Given the description of an element on the screen output the (x, y) to click on. 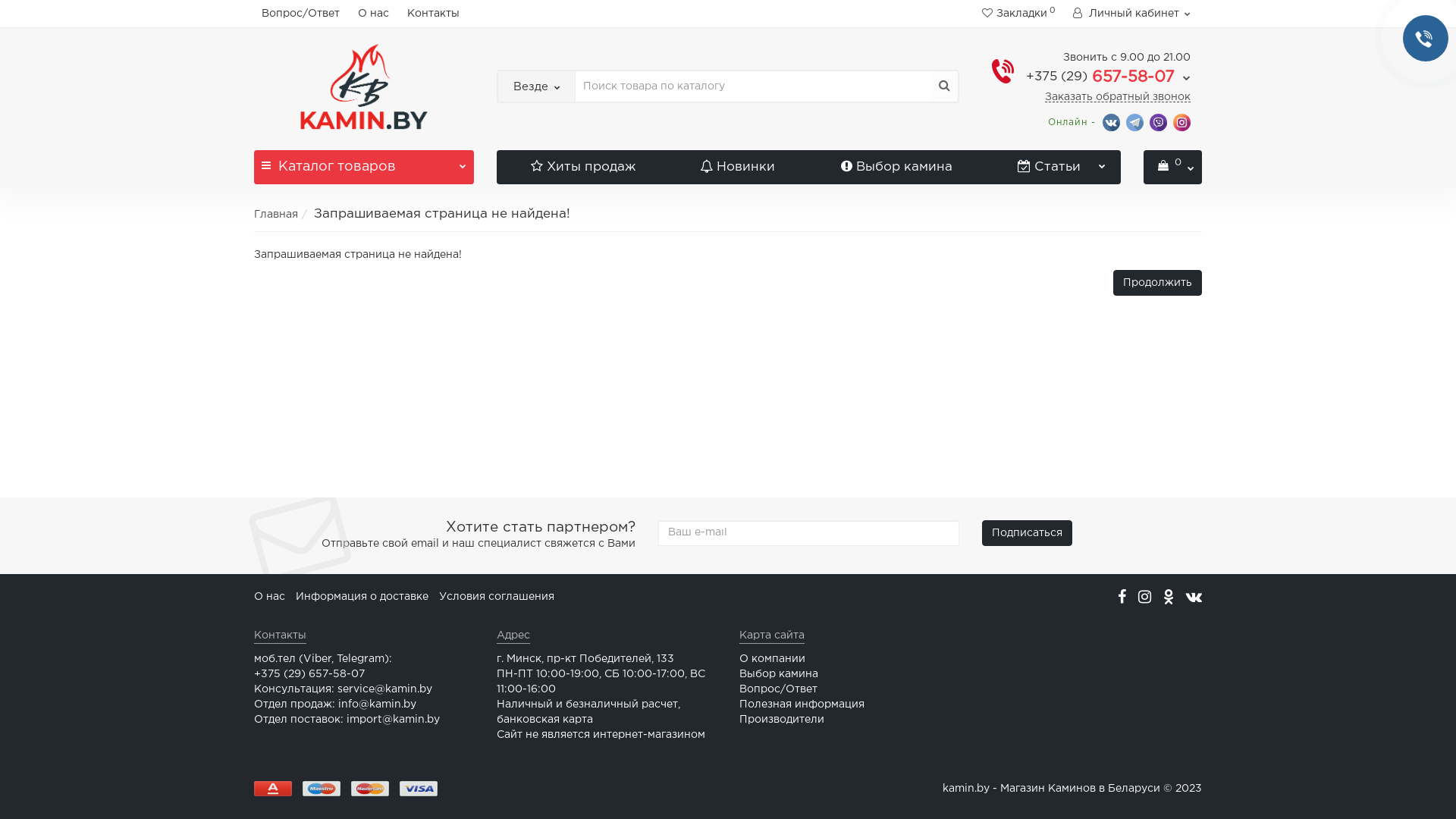
0 Element type: text (1172, 167)
+375 (29) 657-58-07 Element type: text (1108, 76)
